Given the description of an element on the screen output the (x, y) to click on. 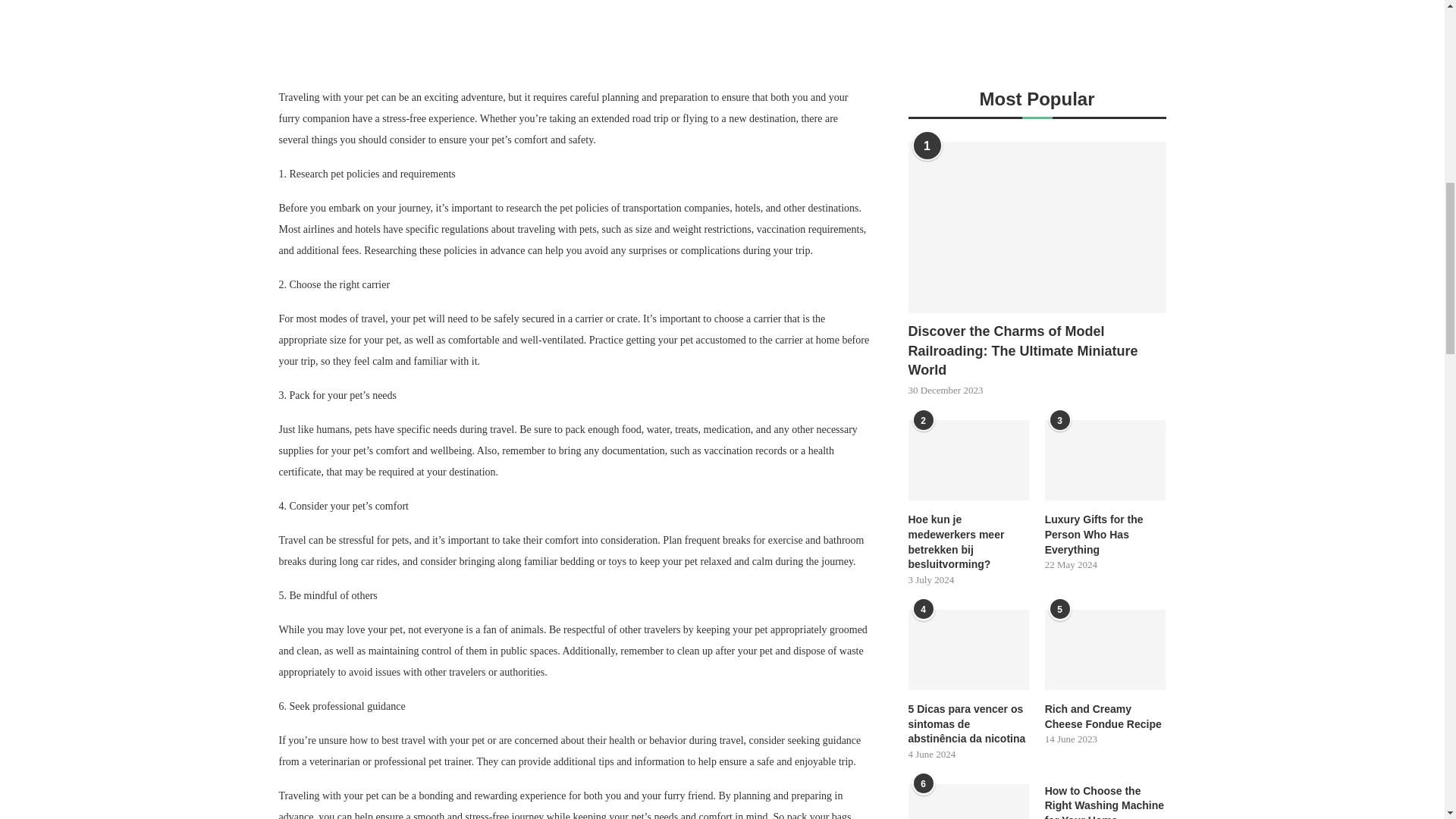
How-to-Travel-with-Your-Pet (722, 28)
